Given the description of an element on the screen output the (x, y) to click on. 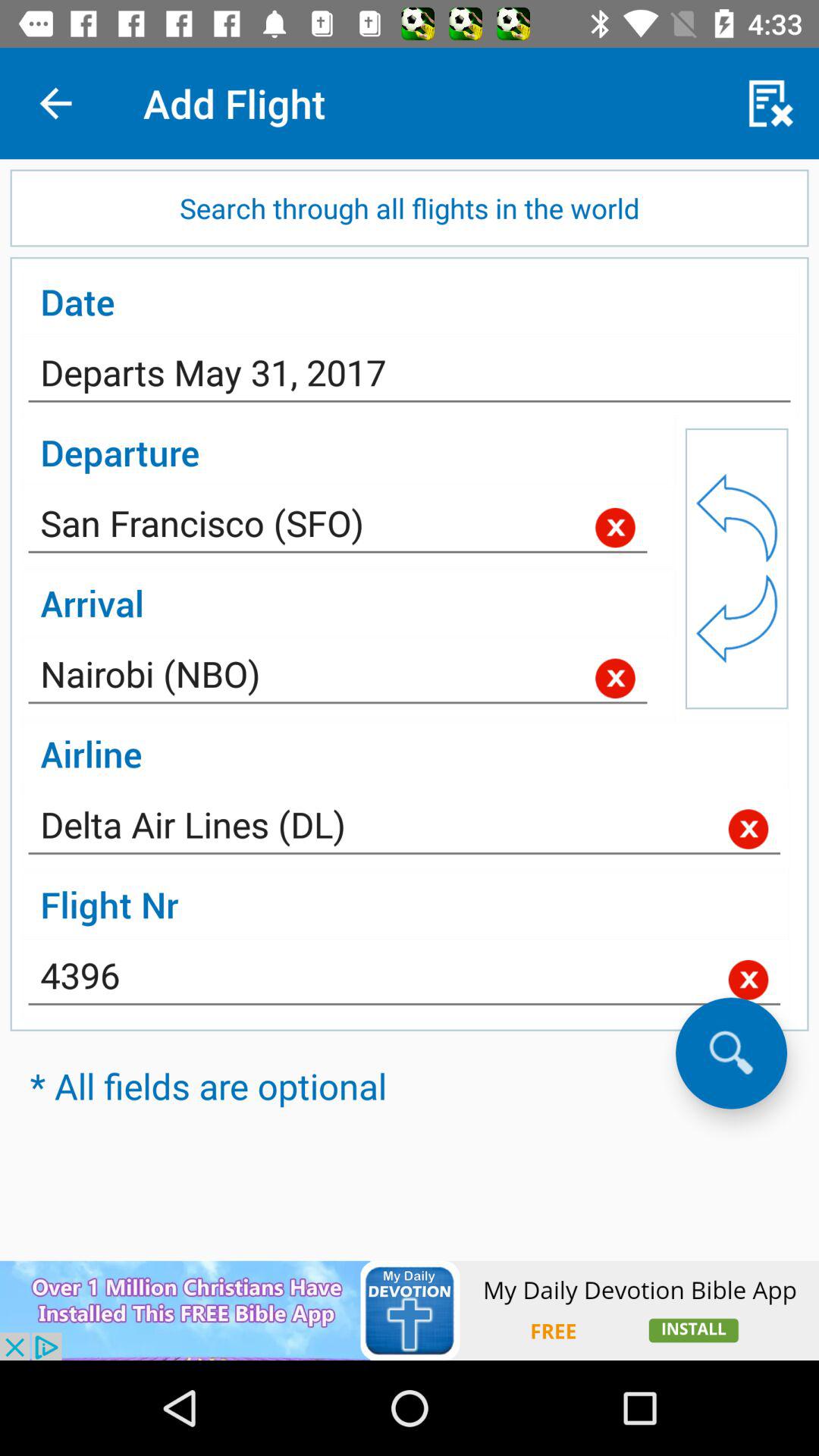
open advertisement (409, 1310)
